Given the description of an element on the screen output the (x, y) to click on. 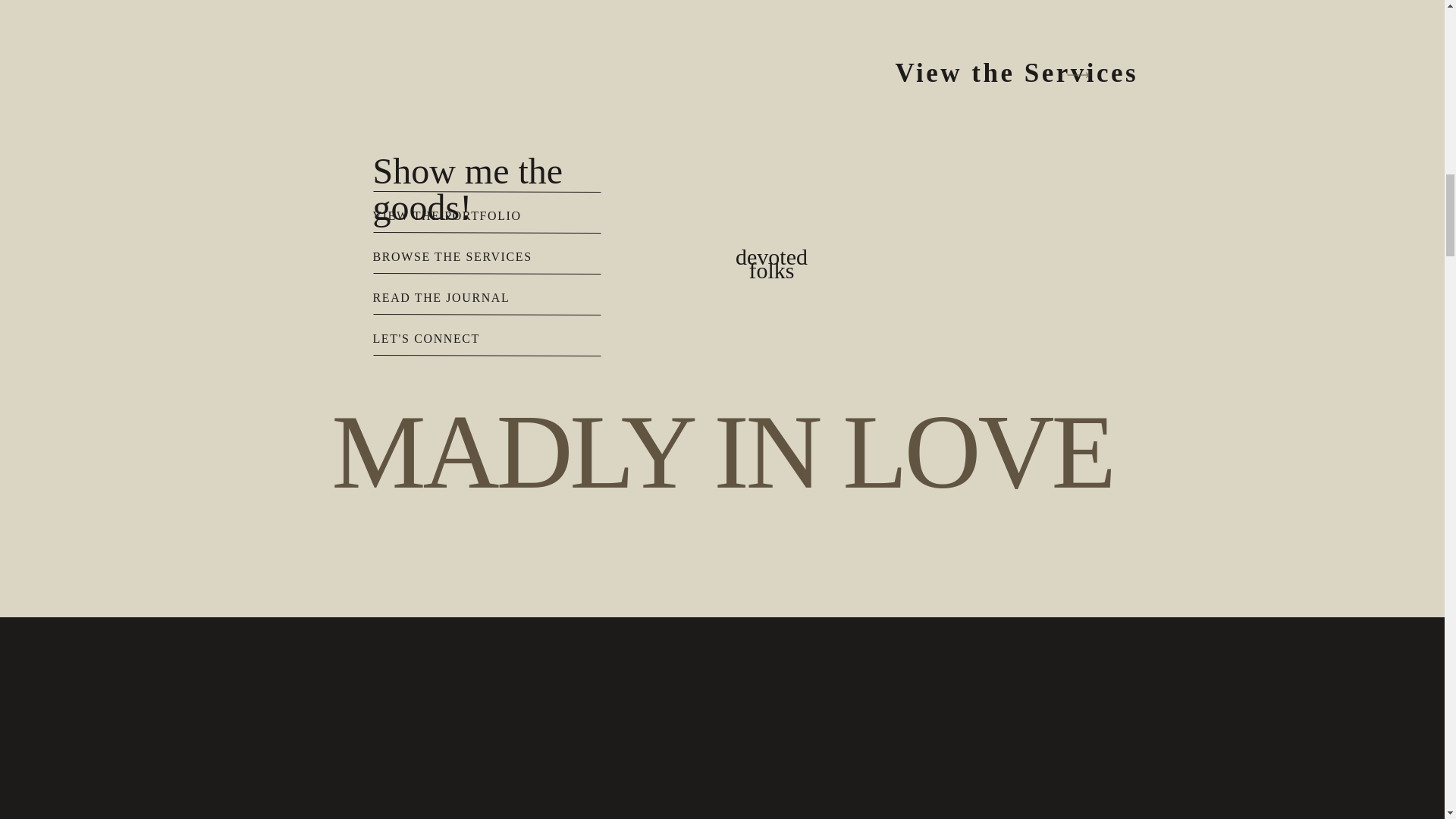
BROWSE THE SERVICES (518, 256)
LET'S CONNECT (518, 338)
VIEW THE PORTFOLIO (518, 216)
View the Services (1041, 74)
READ THE JOURNAL (518, 297)
